Given the description of an element on the screen output the (x, y) to click on. 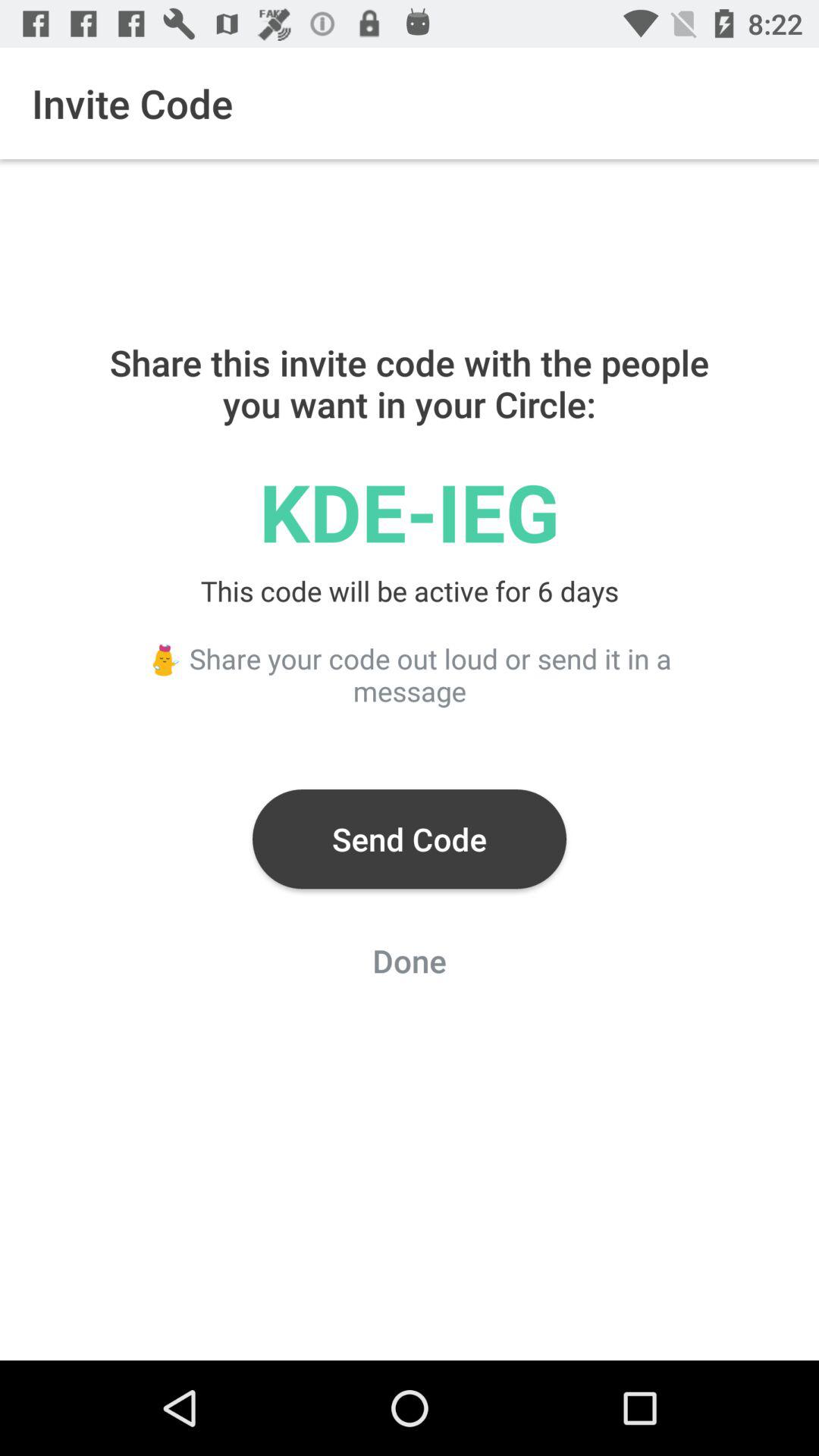
select icon below the send code item (409, 965)
